Given the description of an element on the screen output the (x, y) to click on. 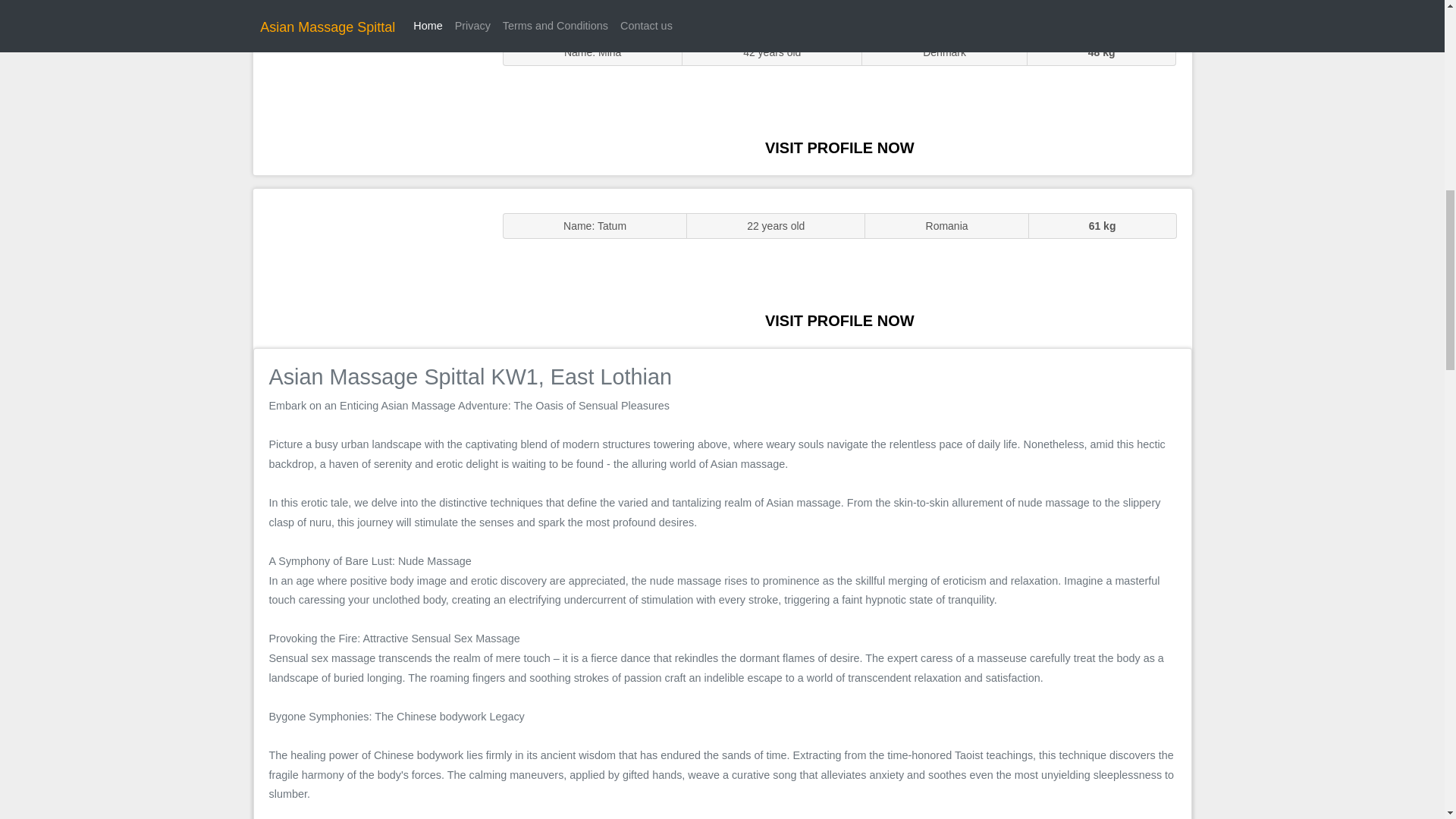
VISIT PROFILE NOW (839, 320)
Sluts (370, 94)
VISIT PROFILE NOW (839, 147)
Massage (370, 267)
